Given the description of an element on the screen output the (x, y) to click on. 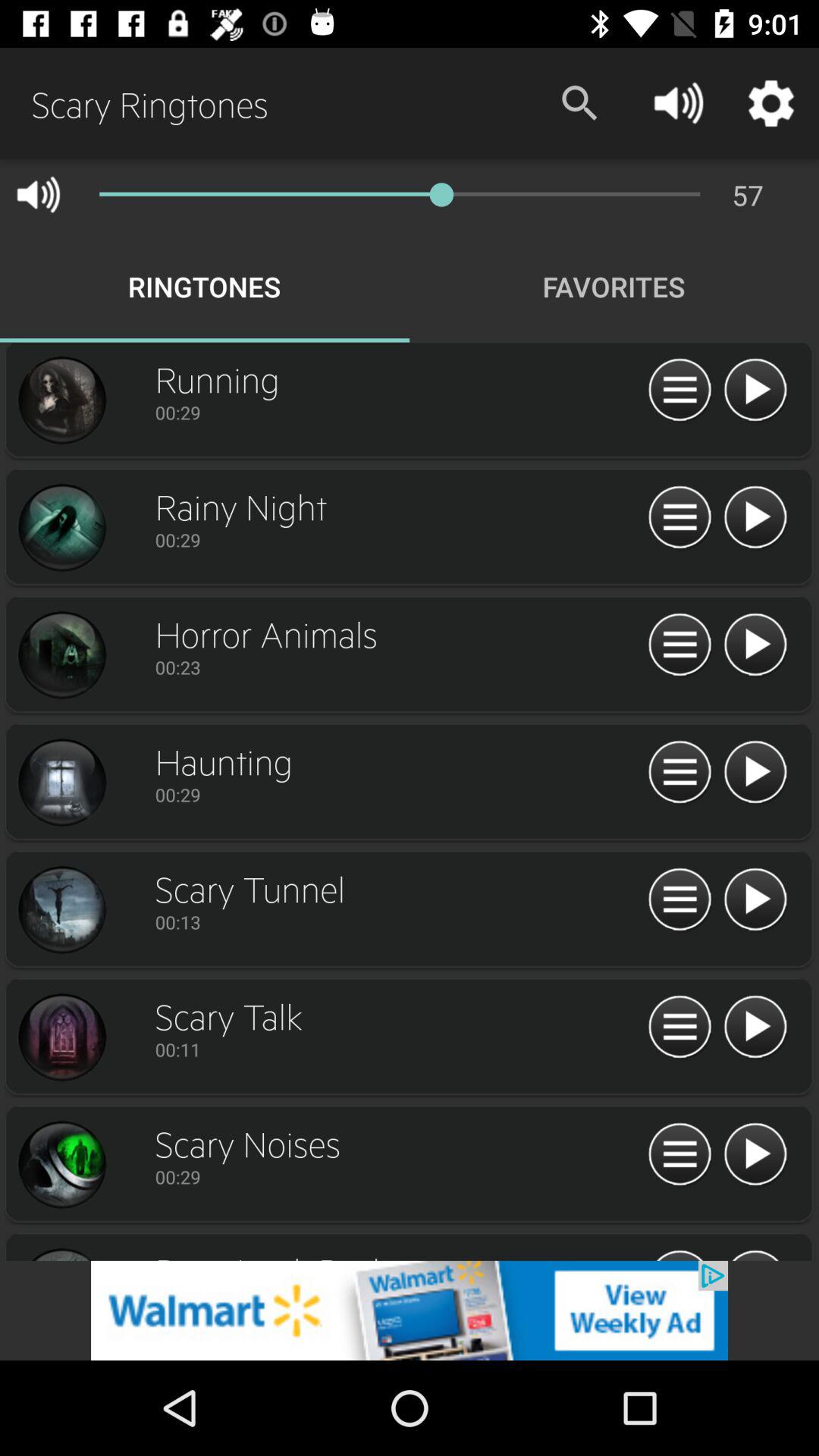
switch play option (755, 900)
